Given the description of an element on the screen output the (x, y) to click on. 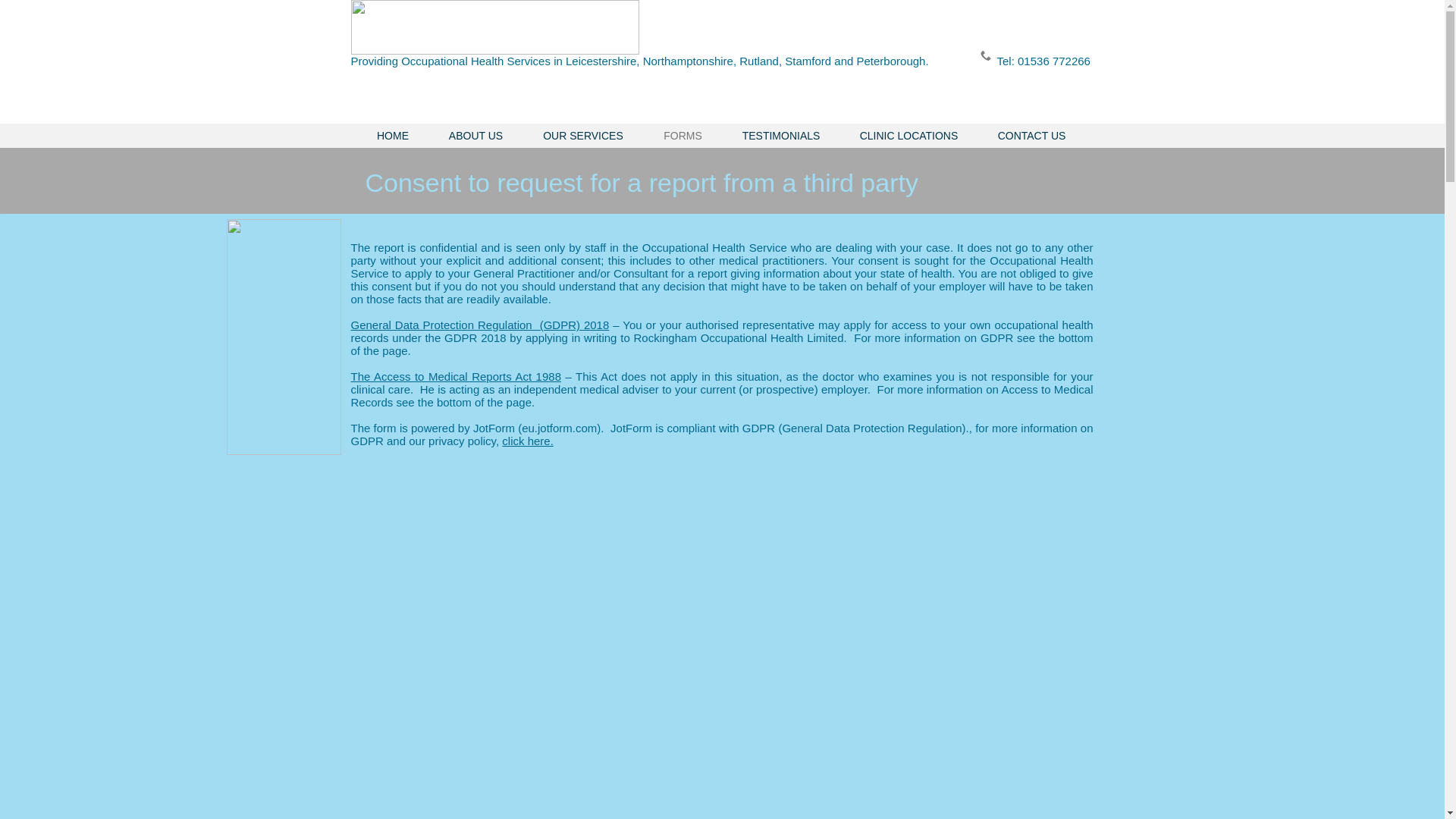
CONTACT US (1032, 136)
click here. (527, 440)
HOME (392, 136)
TESTIMONIALS (781, 136)
OUR SERVICES (582, 136)
FORMS (682, 136)
CLINIC LOCATIONS (909, 136)
ABOUT US (475, 136)
